Given the description of an element on the screen output the (x, y) to click on. 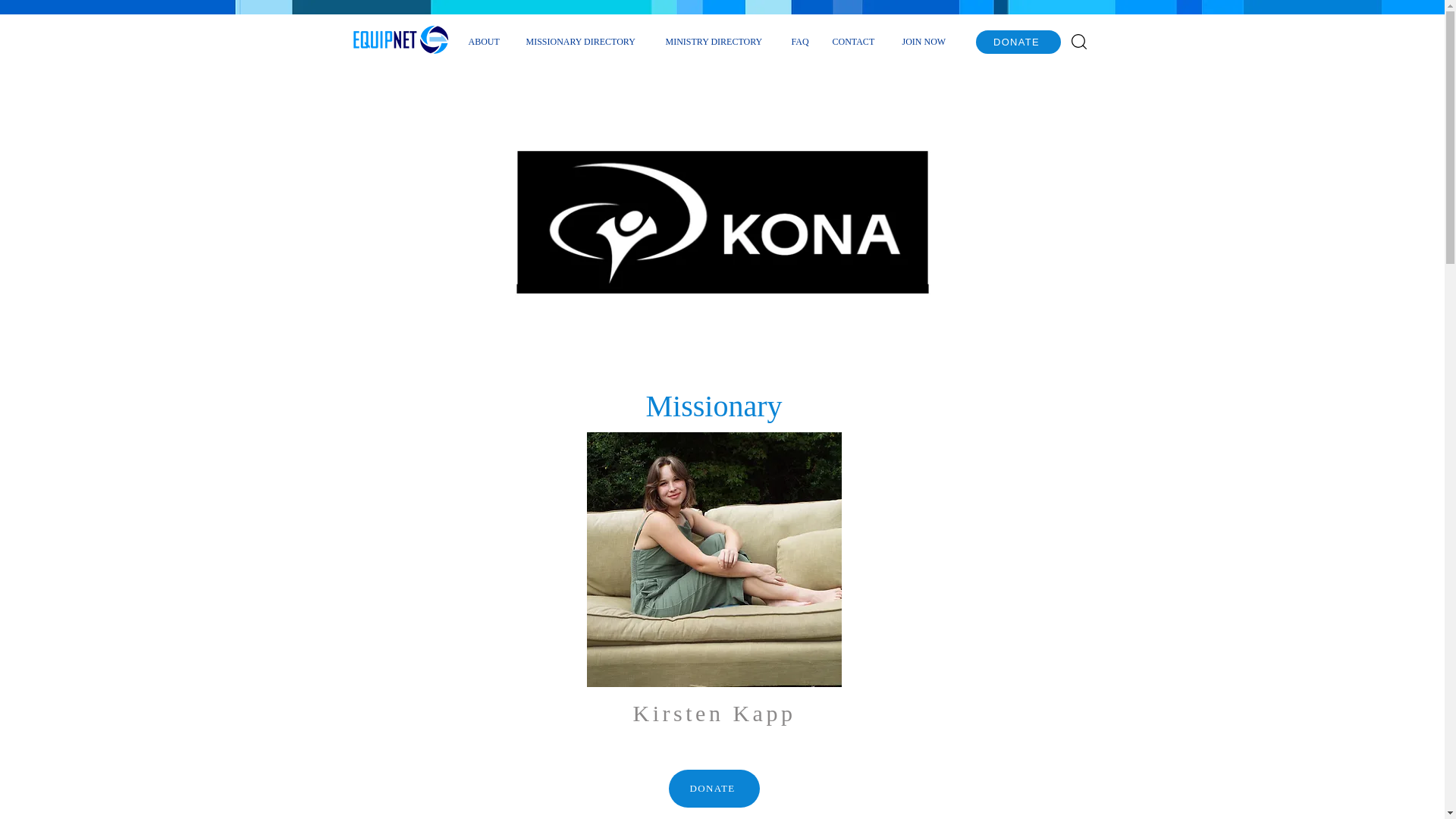
MISSIONARY DIRECTORY (583, 41)
DONATE (1017, 42)
Kirsten Kapp (713, 559)
CONTACT (855, 41)
ABOUT (485, 41)
JOIN NOW (925, 41)
MINISTRY DIRECTORY (715, 41)
DONATE (714, 788)
FAQ (799, 41)
